Given the description of an element on the screen output the (x, y) to click on. 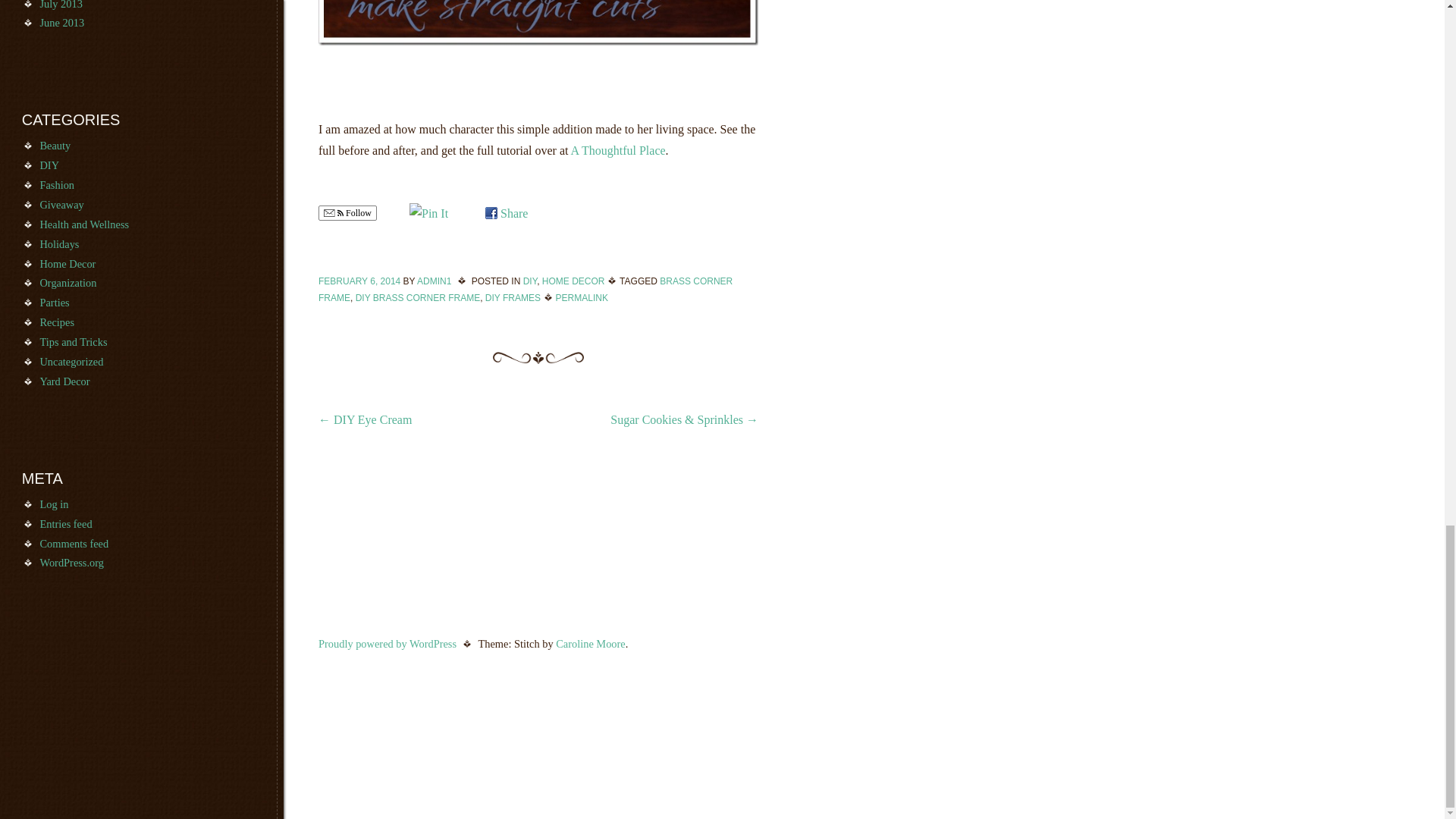
Giveaway (60, 204)
Health and Wellness (84, 224)
DIY (49, 164)
Beauty (54, 145)
June 2013 (61, 22)
Fashion (56, 184)
Email, RSS (333, 214)
6:14 pm (359, 281)
July 2013 (60, 4)
Share on Facebook (505, 213)
